Given the description of an element on the screen output the (x, y) to click on. 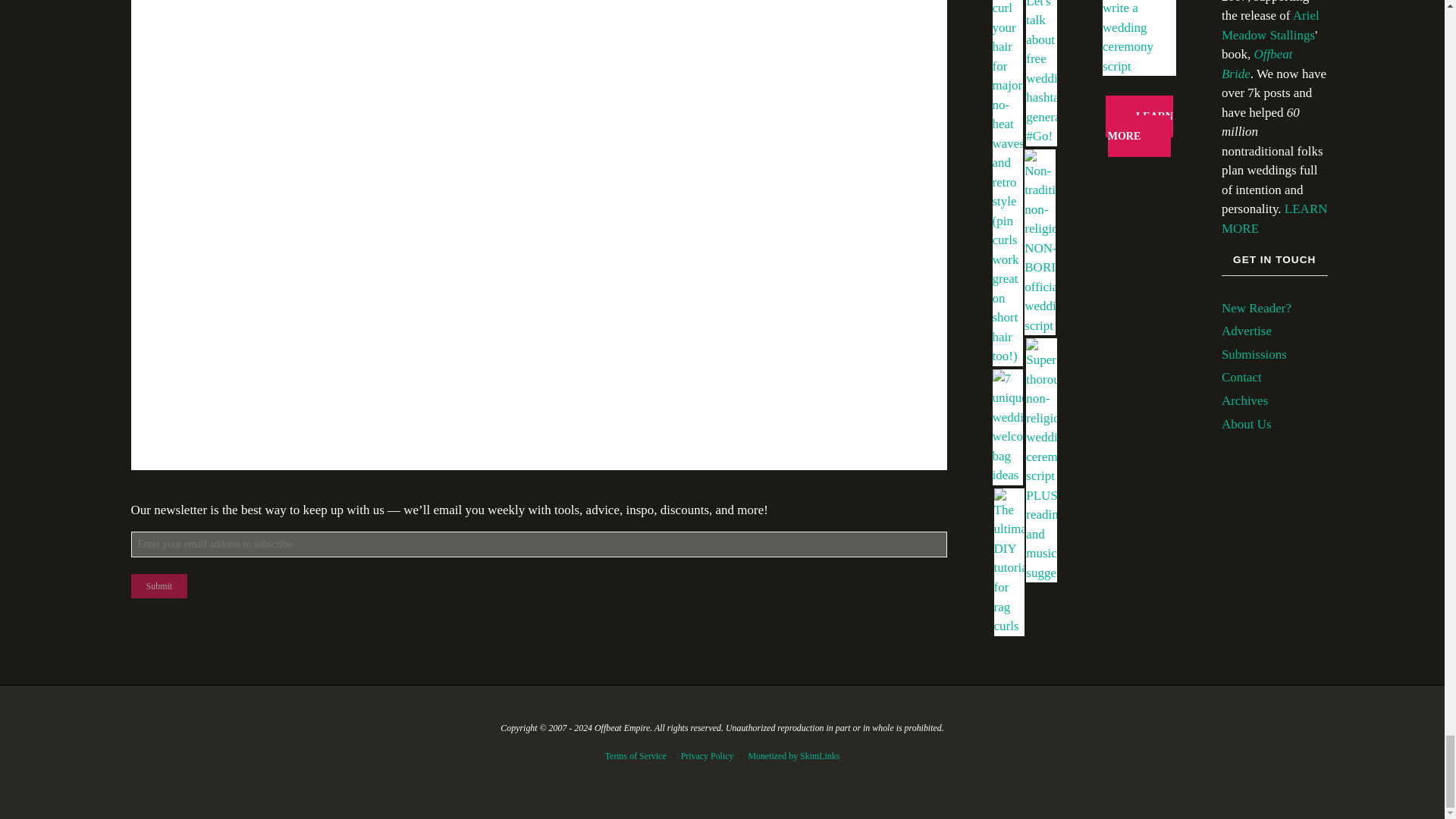
Submit (159, 586)
